Given the description of an element on the screen output the (x, y) to click on. 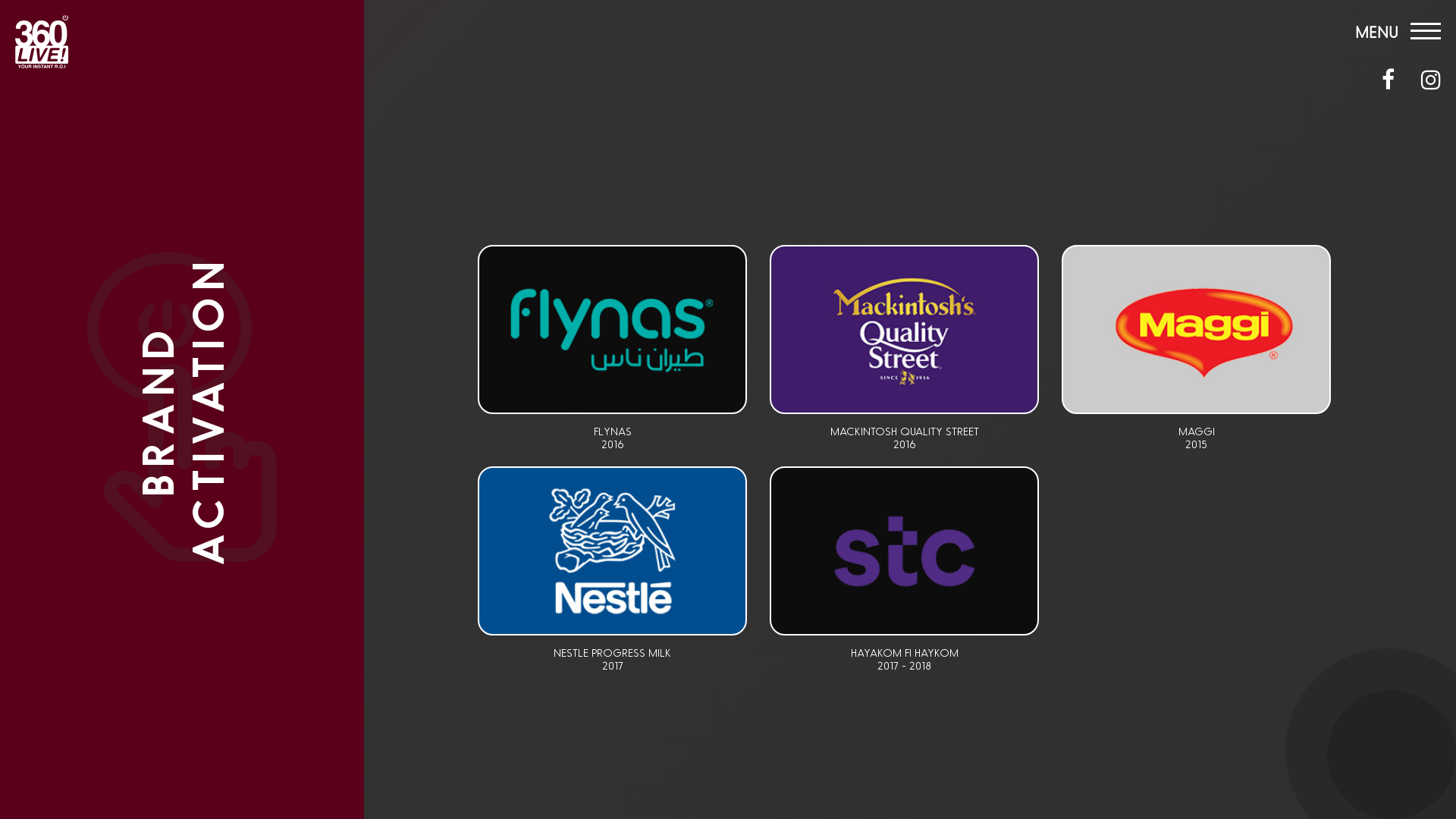
NESTLE PROGRESS MILK
2017 Element type: text (611, 659)
FLYNAS
2016 Element type: text (611, 438)
MAGGI
2015 Element type: text (1195, 438)
HAYAKOM FI HAYKOM
2017 - 2018 Element type: text (903, 659)
MACKINTOSH QUALITY STREET
2016 Element type: text (903, 438)
